Given the description of an element on the screen output the (x, y) to click on. 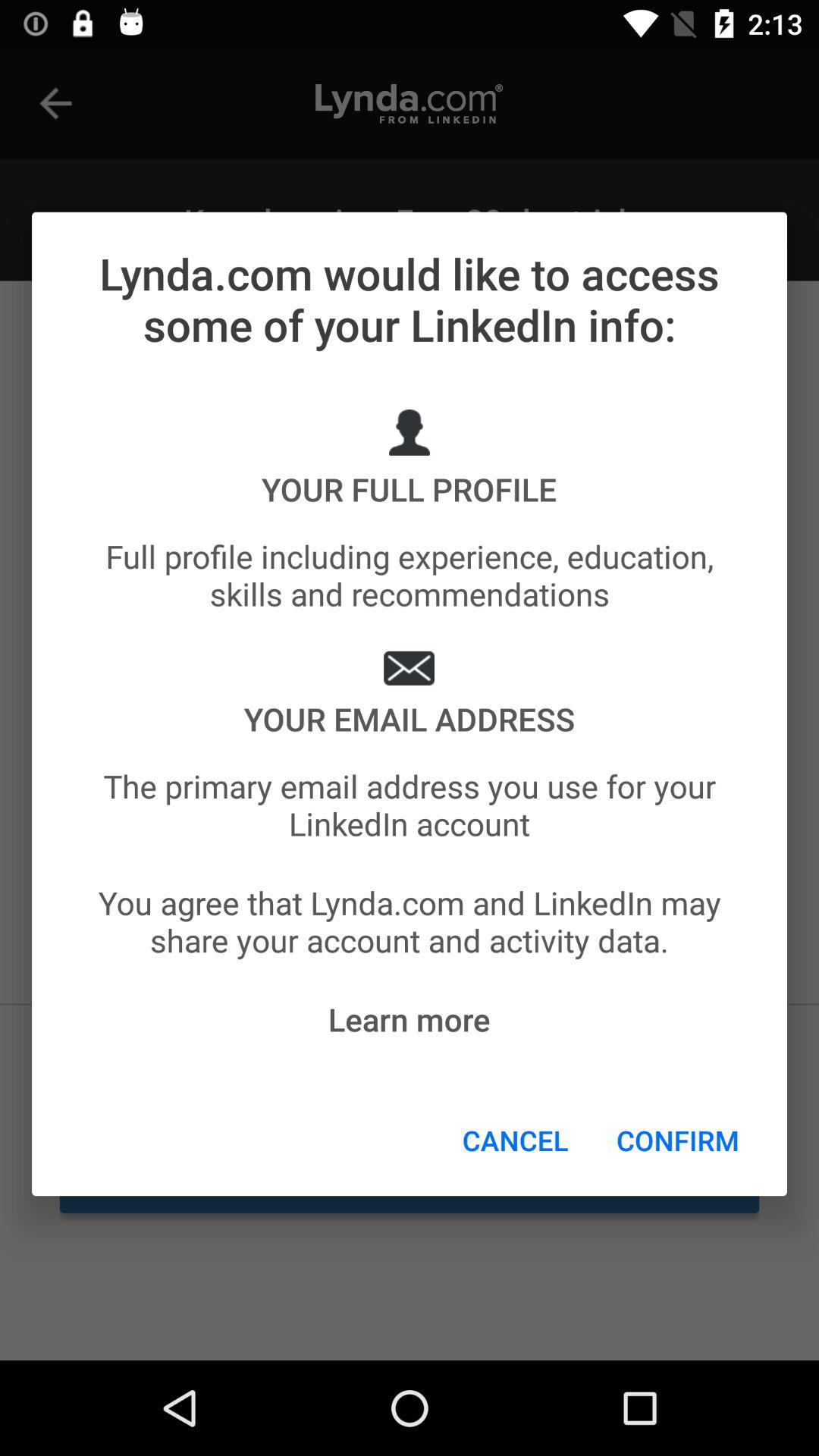
swipe to cancel icon (515, 1140)
